Given the description of an element on the screen output the (x, y) to click on. 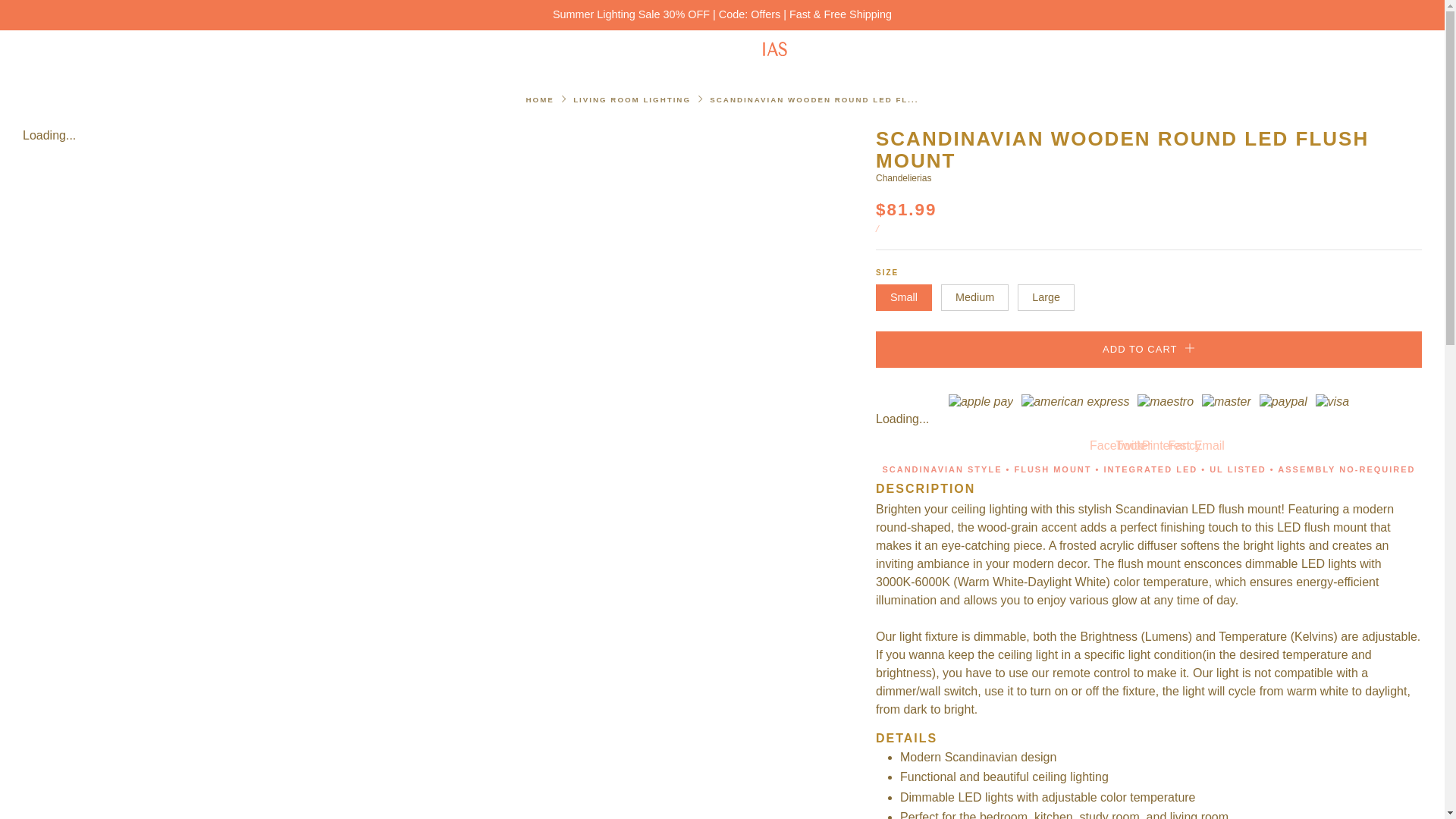
Chandelierias (903, 177)
Home (539, 99)
